Given the description of an element on the screen output the (x, y) to click on. 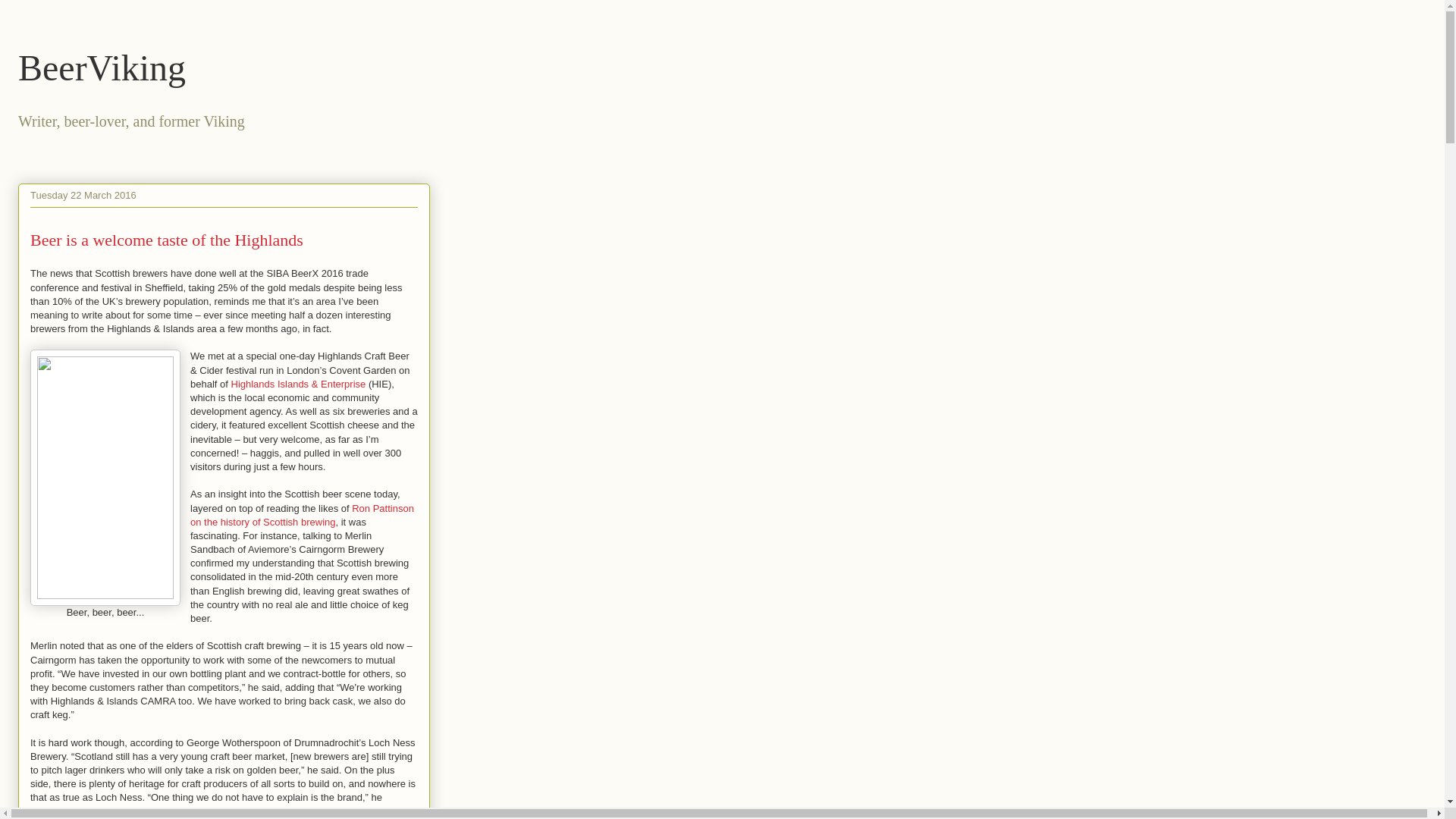
Ron Pattinson on the history of Scottish brewing (301, 514)
BeerViking (101, 67)
